Given the description of an element on the screen output the (x, y) to click on. 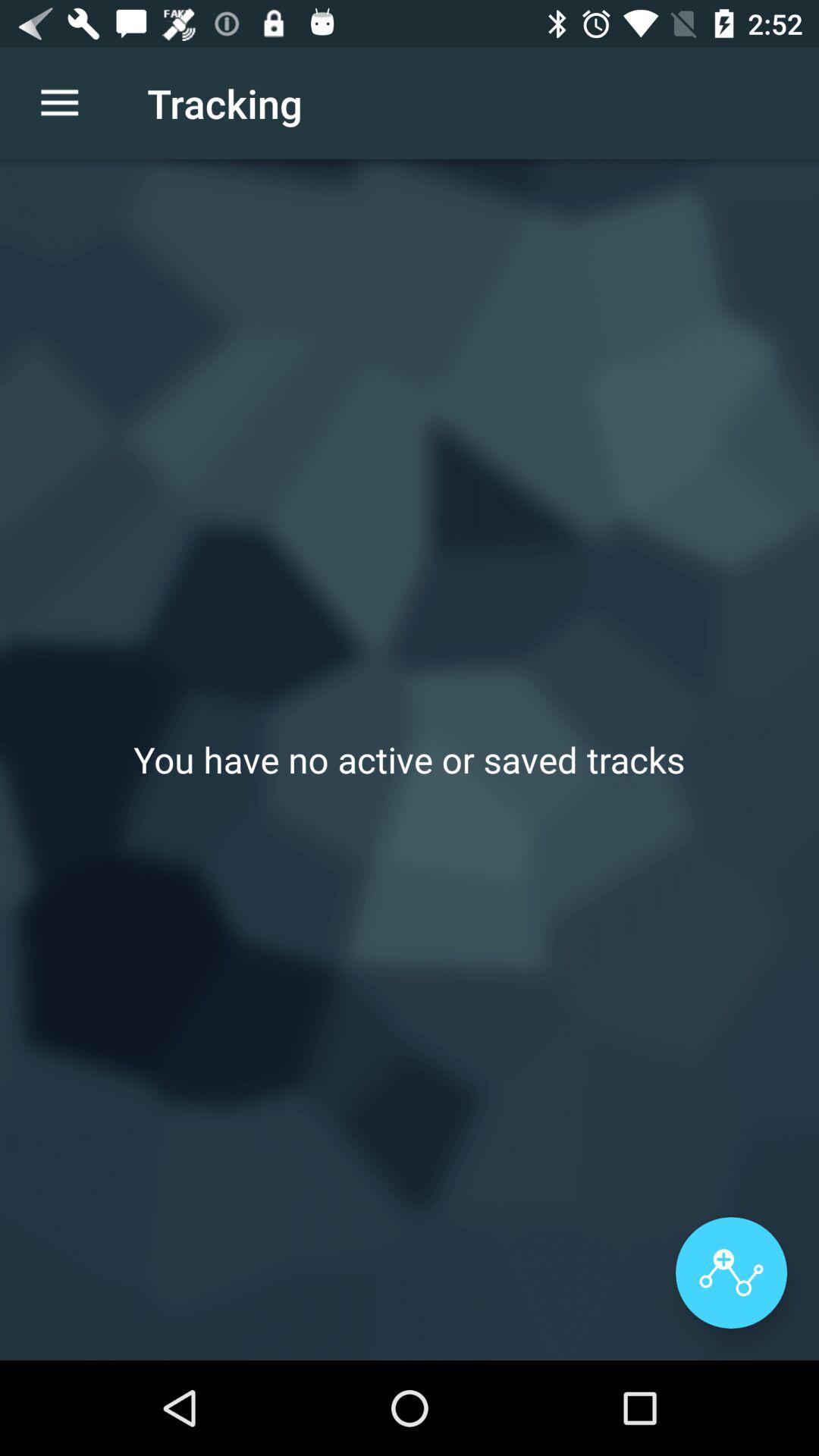
share the article (731, 1272)
